Given the description of an element on the screen output the (x, y) to click on. 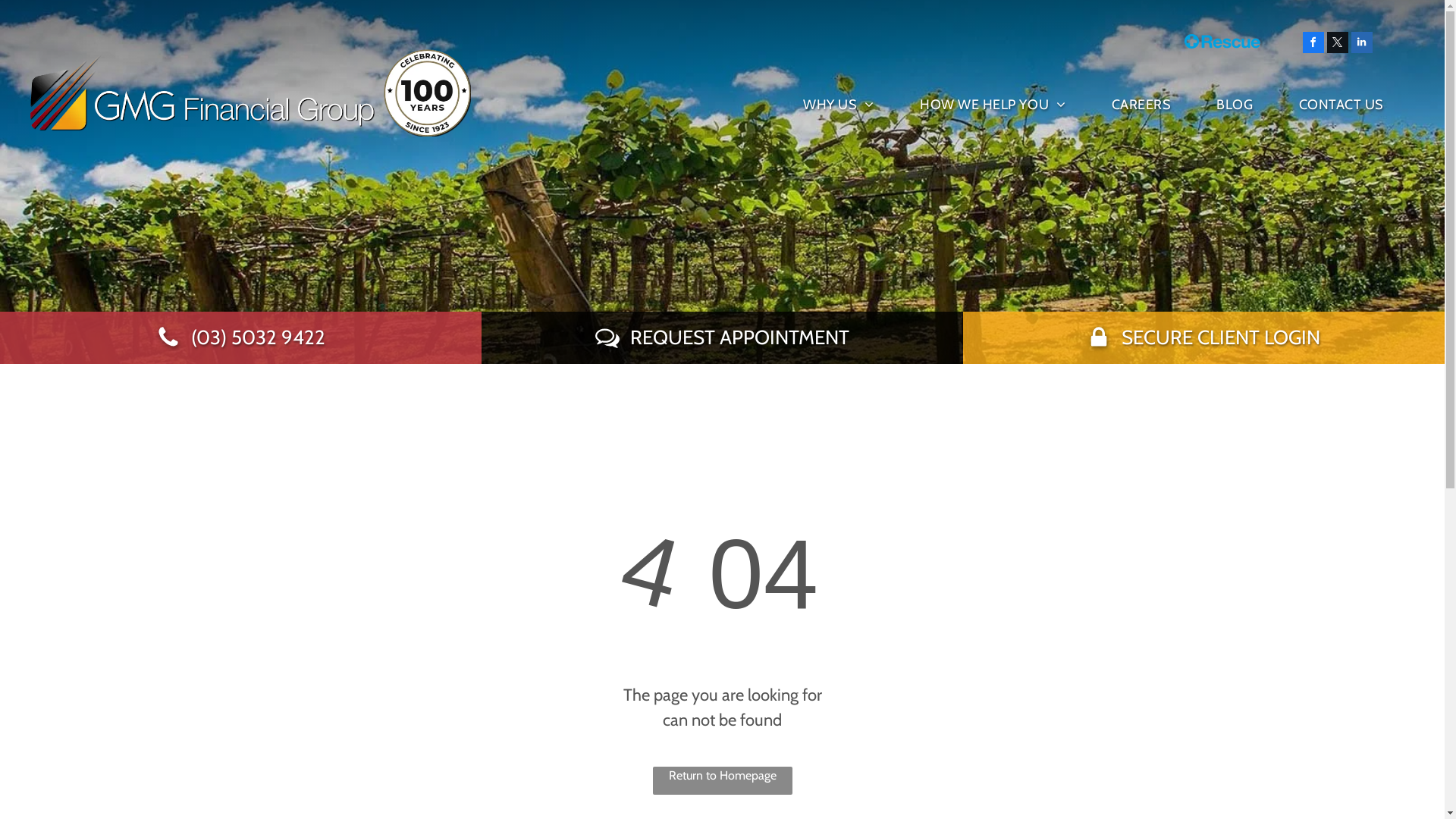
Return to Homepage Element type: text (721, 780)
SECURE CLIENT LOGIN Element type: text (1203, 336)
HOW WE HELP YOU Element type: text (970, 104)
(03) 5032 9422 Element type: text (240, 336)
BLOG Element type: text (1211, 104)
CONTACT US Element type: text (1318, 104)
REQUEST APPOINTMENT Element type: text (722, 336)
CAREERS Element type: text (1118, 104)
WHY US Element type: text (815, 104)
